Given the description of an element on the screen output the (x, y) to click on. 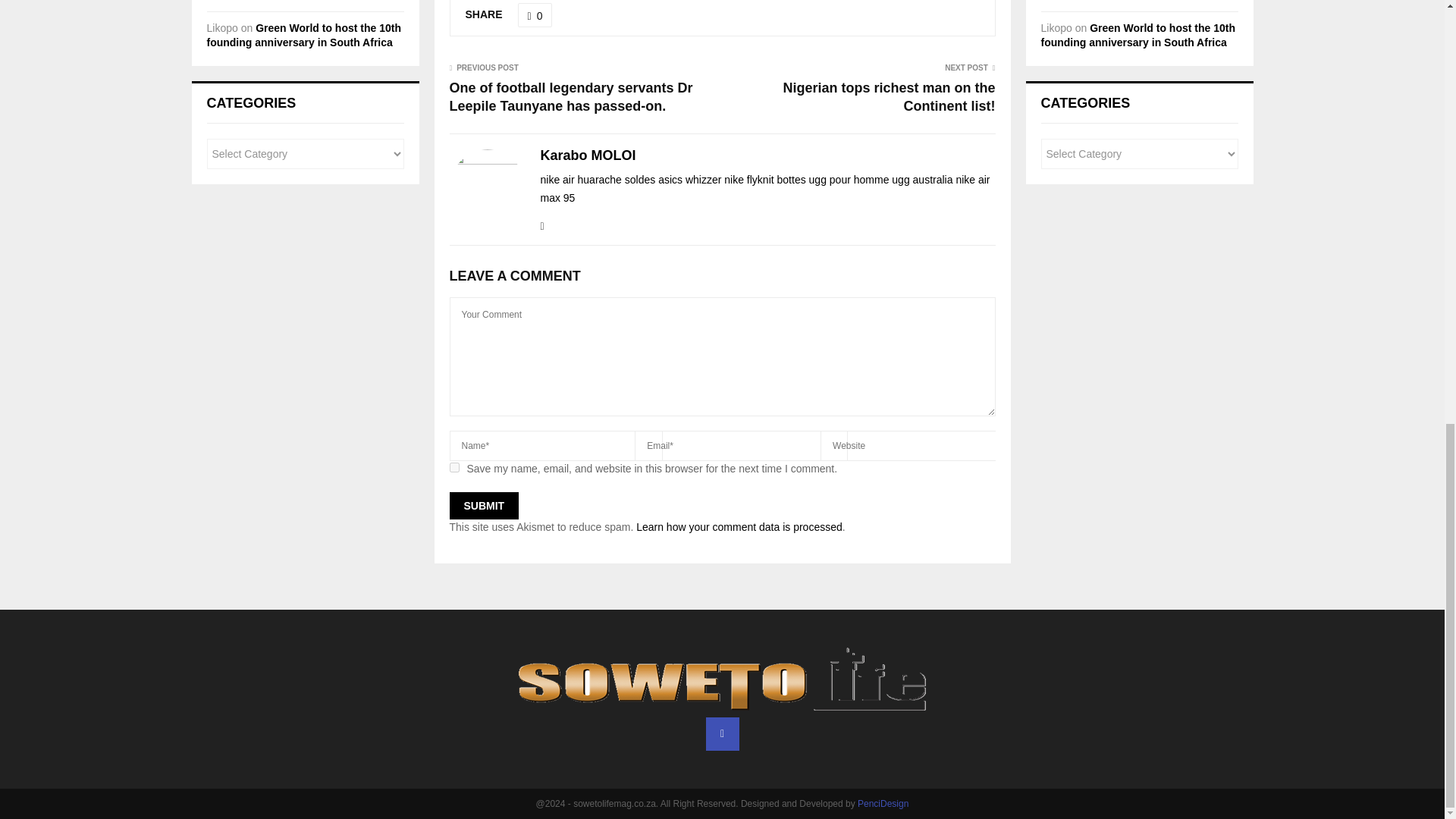
yes (453, 467)
Posts by Karabo MOLOI (587, 155)
Submit (483, 505)
Like (535, 15)
Facebook (721, 734)
